Given the description of an element on the screen output the (x, y) to click on. 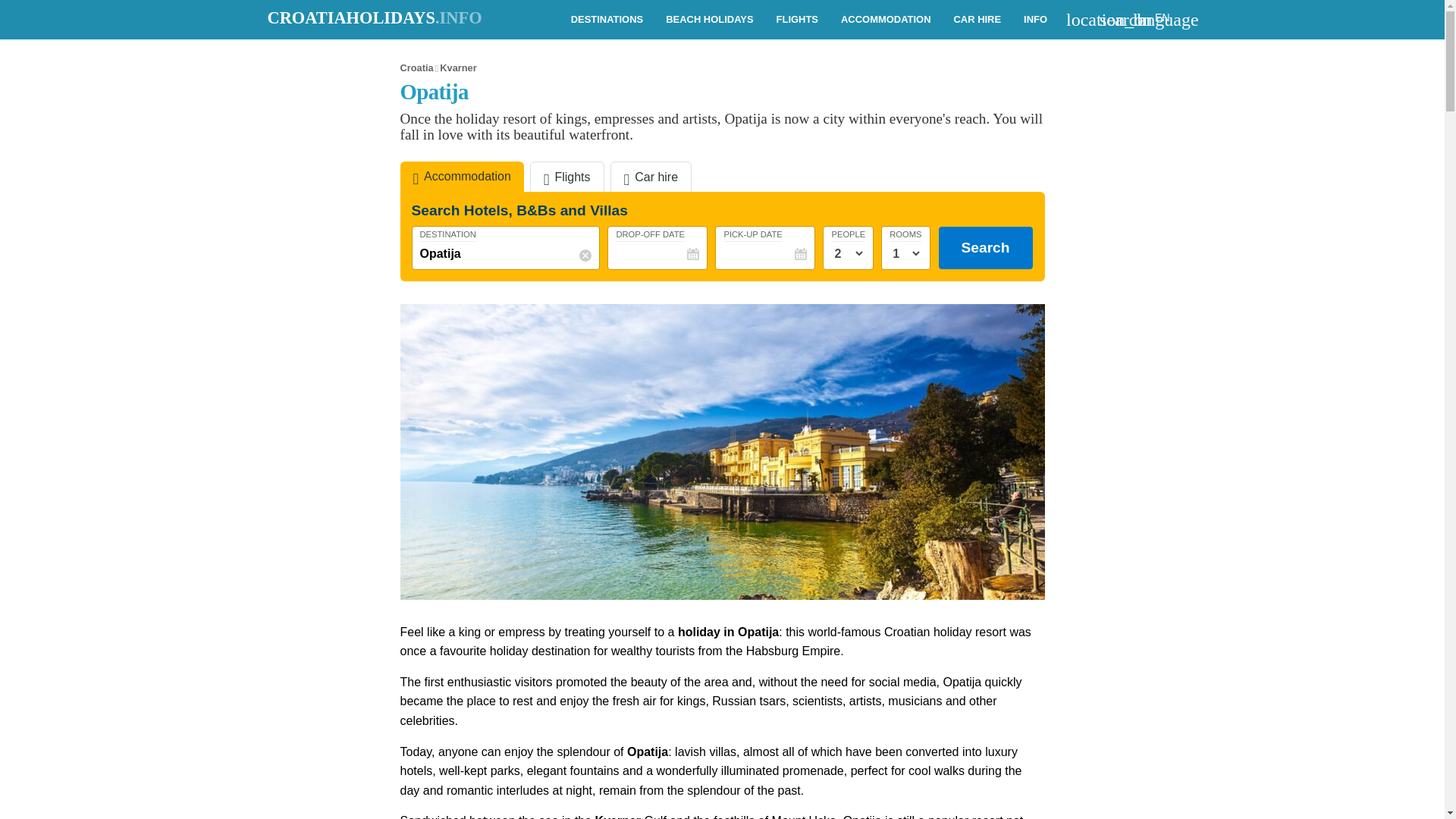
FLIGHTS (797, 19)
Opatija (506, 253)
CROATIAHOLIDAYS.INFO (373, 17)
BEACH HOLIDAYS (708, 19)
Kvarner (457, 67)
CAR HIRE (976, 19)
INFO (1034, 19)
DESTINATIONS (606, 19)
ACCOMMODATION (885, 19)
Croatia (416, 67)
